Given the description of an element on the screen output the (x, y) to click on. 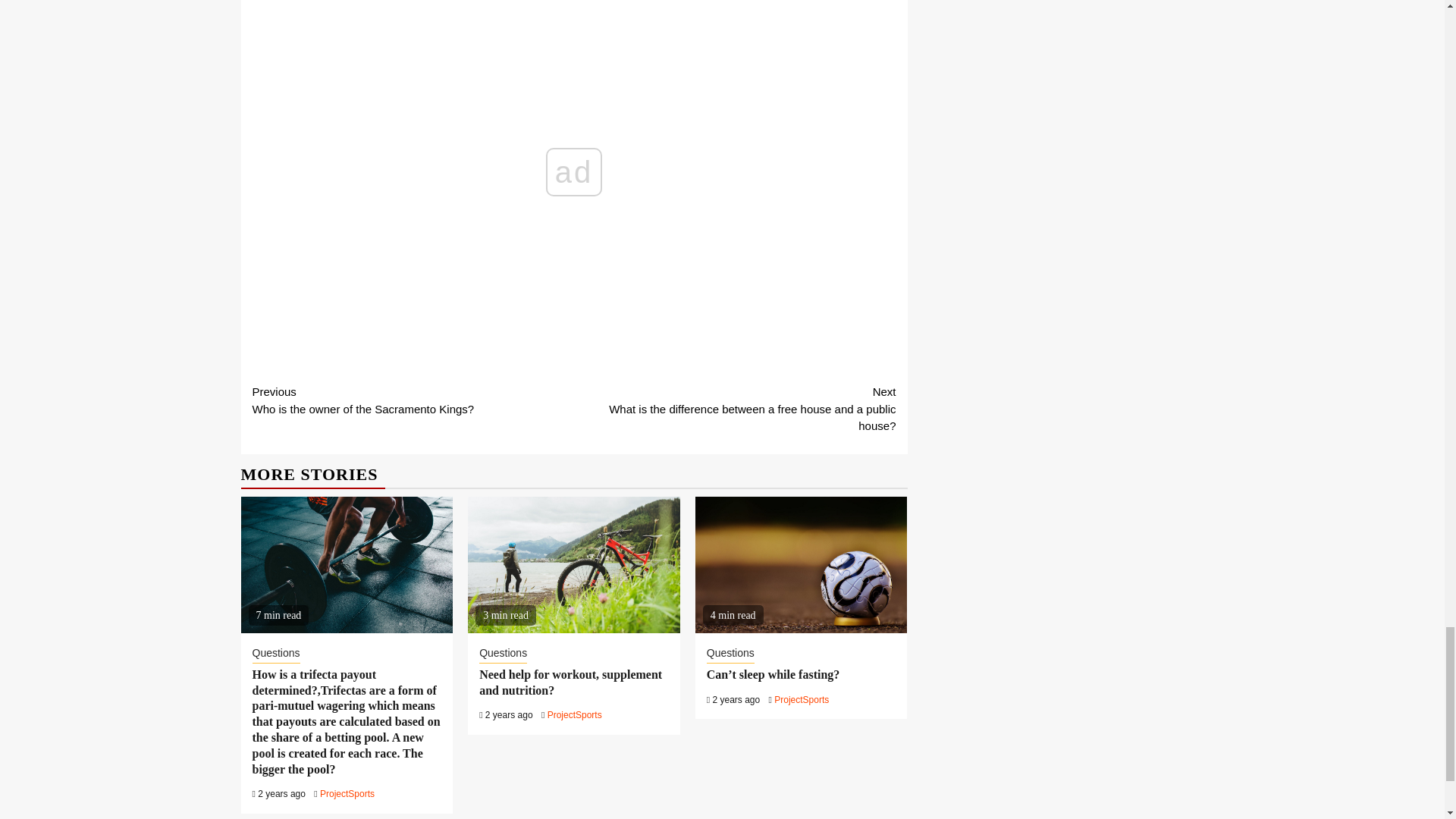
Questions (275, 654)
Questions (503, 654)
ProjectSports (412, 400)
Need help for workout, supplement and nutrition? (574, 715)
ProjectSports (570, 682)
